Given the description of an element on the screen output the (x, y) to click on. 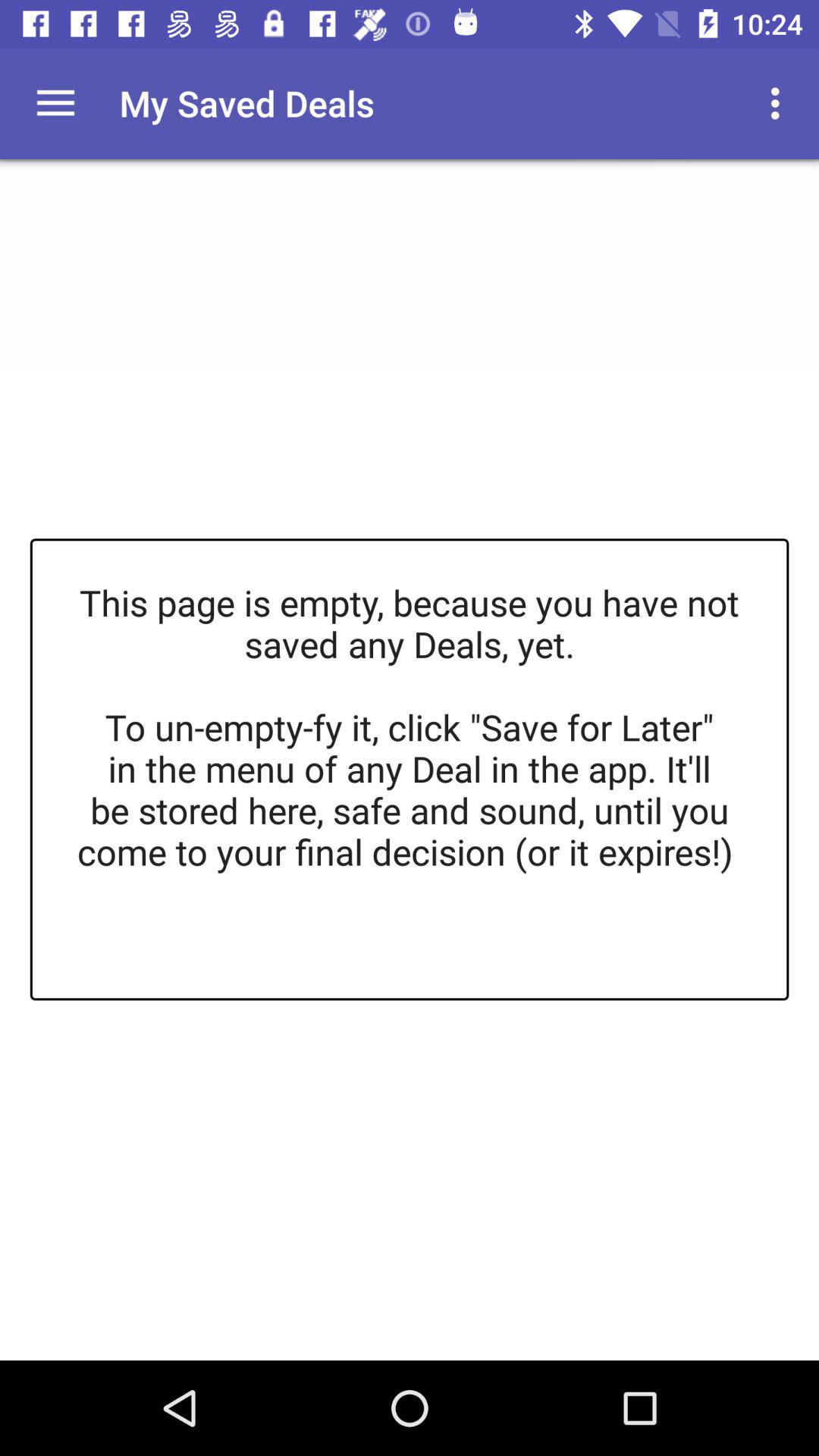
hide or display hamburger menu (55, 103)
